Given the description of an element on the screen output the (x, y) to click on. 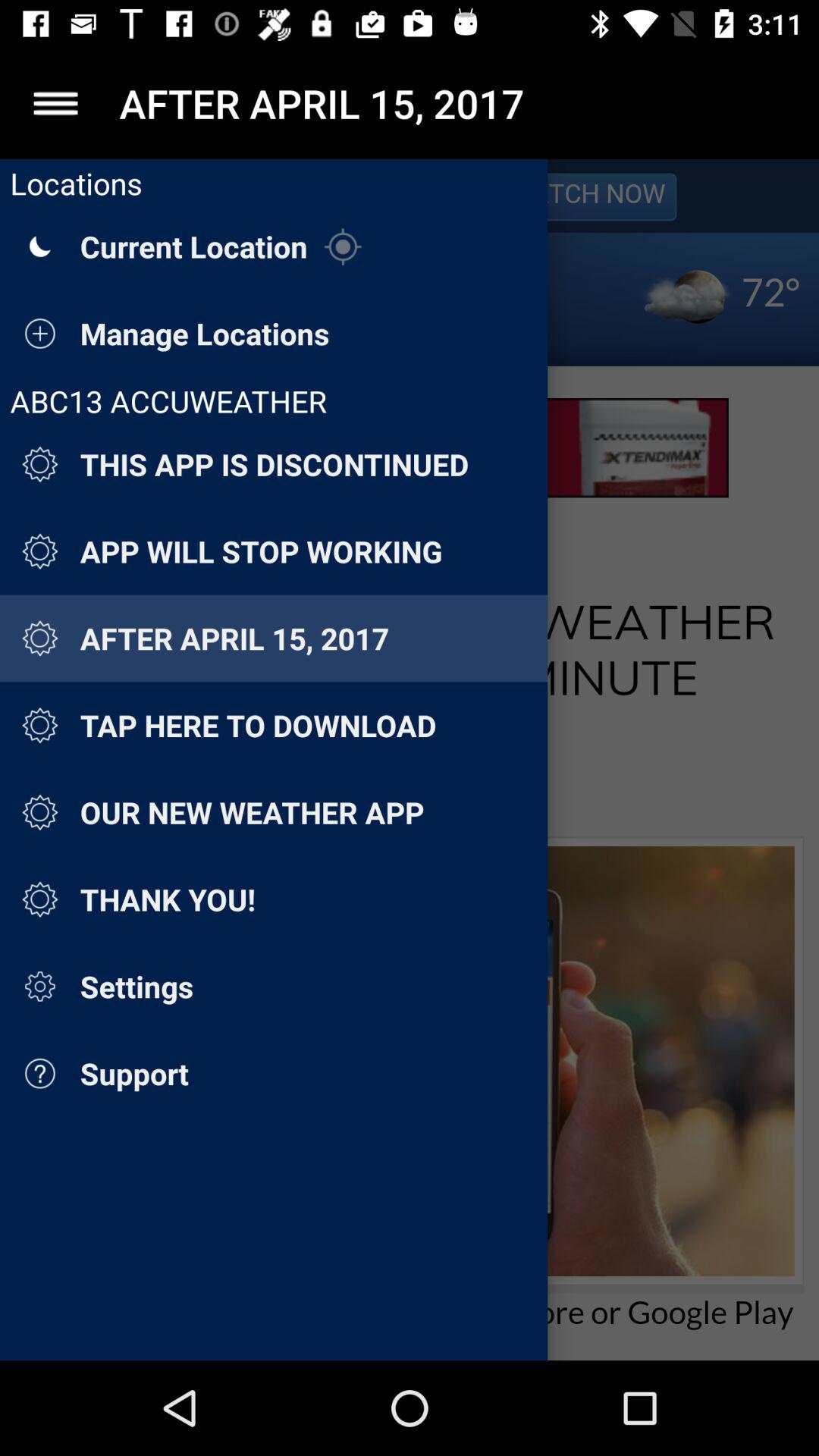
application (55, 103)
